Given the description of an element on the screen output the (x, y) to click on. 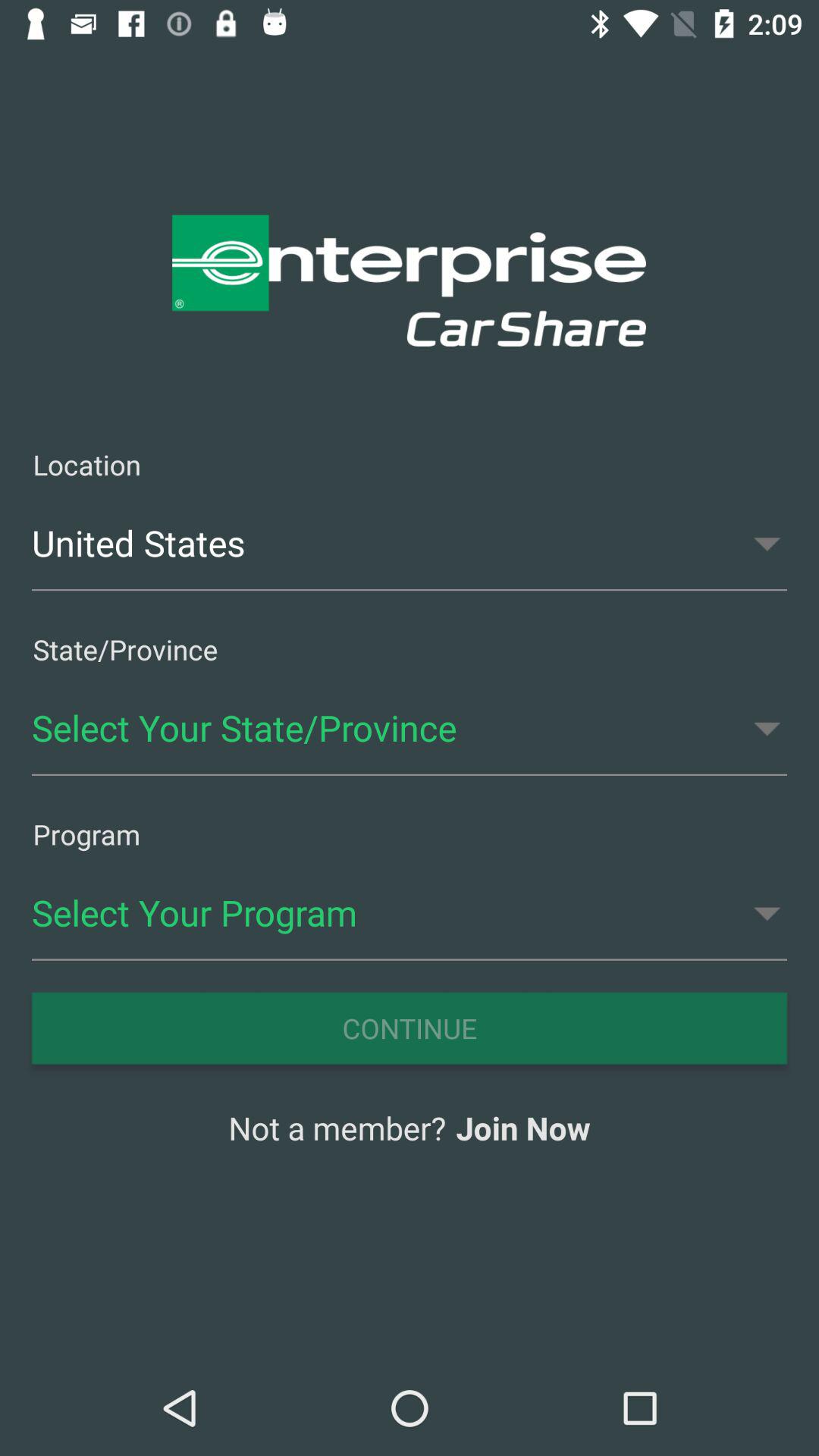
turn off united states (409, 542)
